Given the description of an element on the screen output the (x, y) to click on. 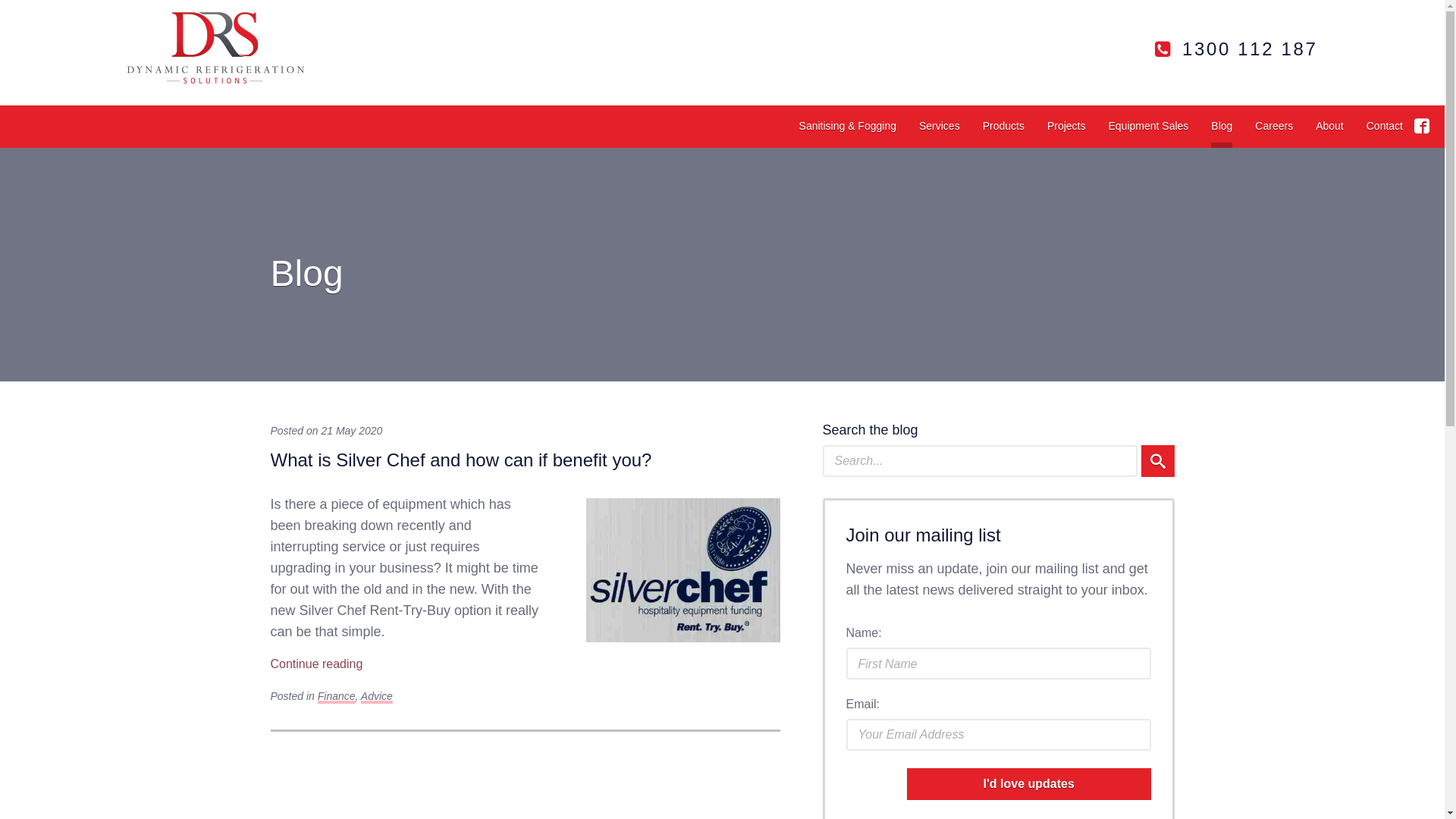
About Element type: text (1329, 126)
Products Element type: text (1003, 126)
What is Silver Chef and how can if benefit you? Element type: hover (682, 570)
Equipment Sales Element type: text (1147, 126)
Contact Element type: text (1384, 126)
Projects Element type: text (1066, 126)
Continue reading Element type: text (315, 663)
Sanitising & Fogging Element type: text (847, 126)
Services Element type: text (939, 126)
What is Silver Chef and how can if benefit you? Element type: text (460, 459)
Finance Element type: text (336, 696)
Careers Element type: text (1273, 126)
Blog Element type: text (1221, 126)
Dynamic Refrigeration Solutions Element type: hover (215, 48)
1300 112 187 Element type: text (1235, 48)
I'd love updates Element type: text (1028, 784)
Follow us on Facebook Element type: text (1421, 125)
Advice Element type: text (376, 696)
